Given the description of an element on the screen output the (x, y) to click on. 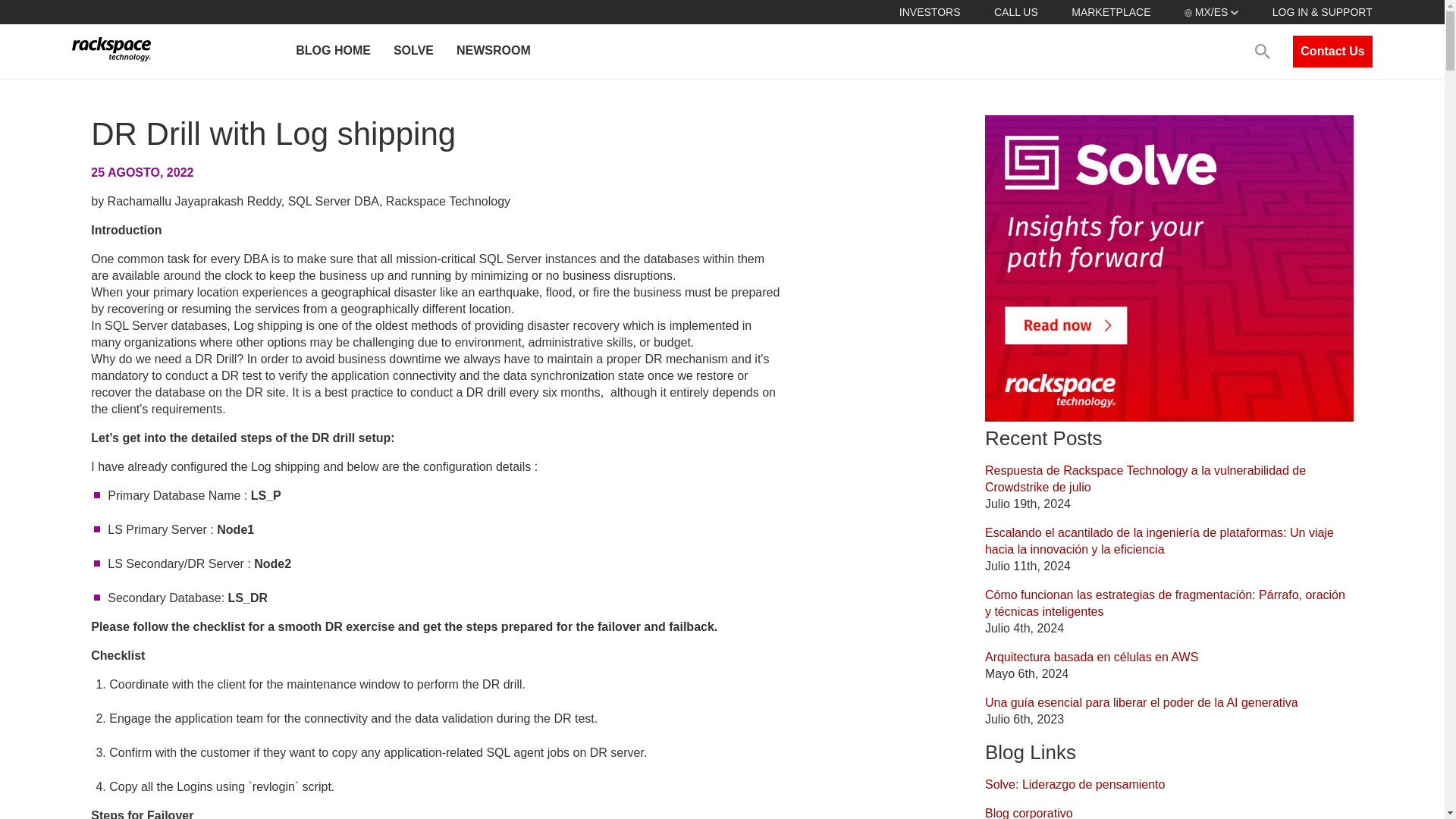
CALL US (1016, 11)
Contact Us (1331, 51)
BLOG HOME (332, 51)
INVESTORS (929, 11)
SOLVE (413, 51)
Blog corporativo (1029, 812)
MARKETPLACE (1110, 11)
Solve: Liderazgo de pensamiento (1075, 784)
